Given the description of an element on the screen output the (x, y) to click on. 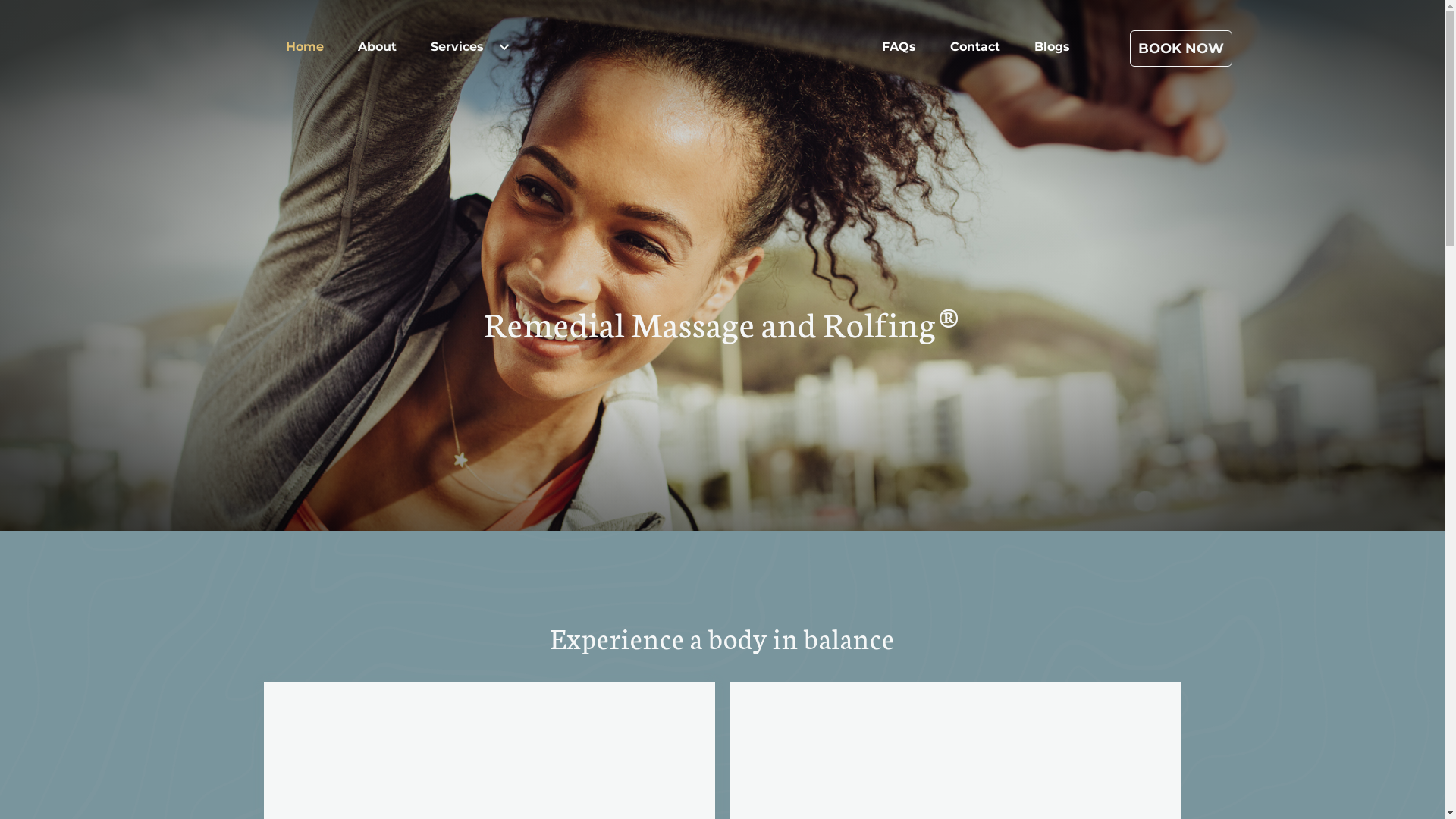
FAQs Element type: text (898, 46)
Home Element type: text (304, 46)
BOOK NOW Element type: text (1180, 48)
Blogs Element type: text (1052, 46)
Services Element type: text (469, 46)
About Element type: text (376, 46)
Contact Element type: text (975, 46)
